Given the description of an element on the screen output the (x, y) to click on. 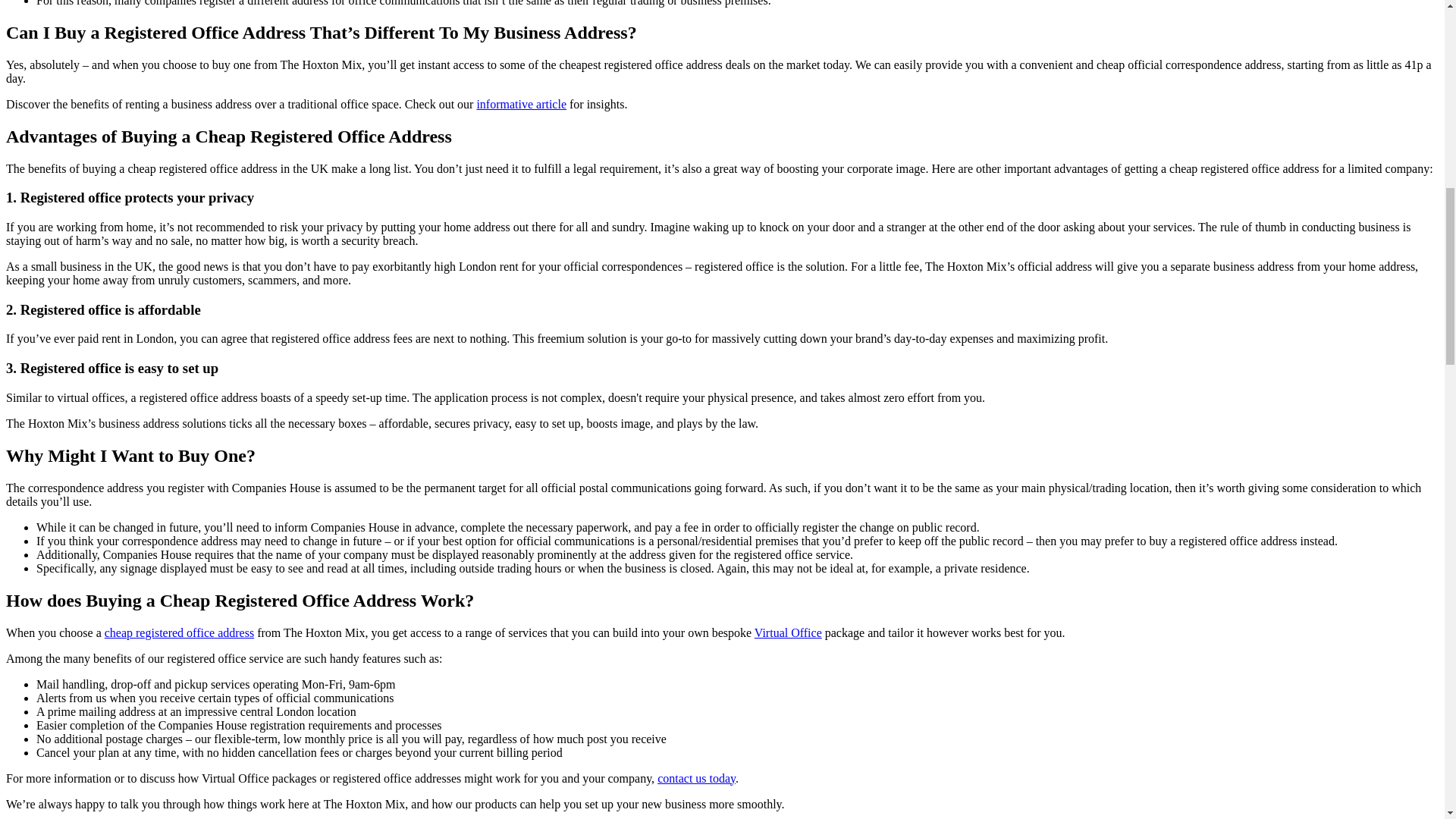
Virtual Office (788, 632)
informative article (521, 103)
cheap registered office address (178, 632)
contact us today (696, 778)
